Given the description of an element on the screen output the (x, y) to click on. 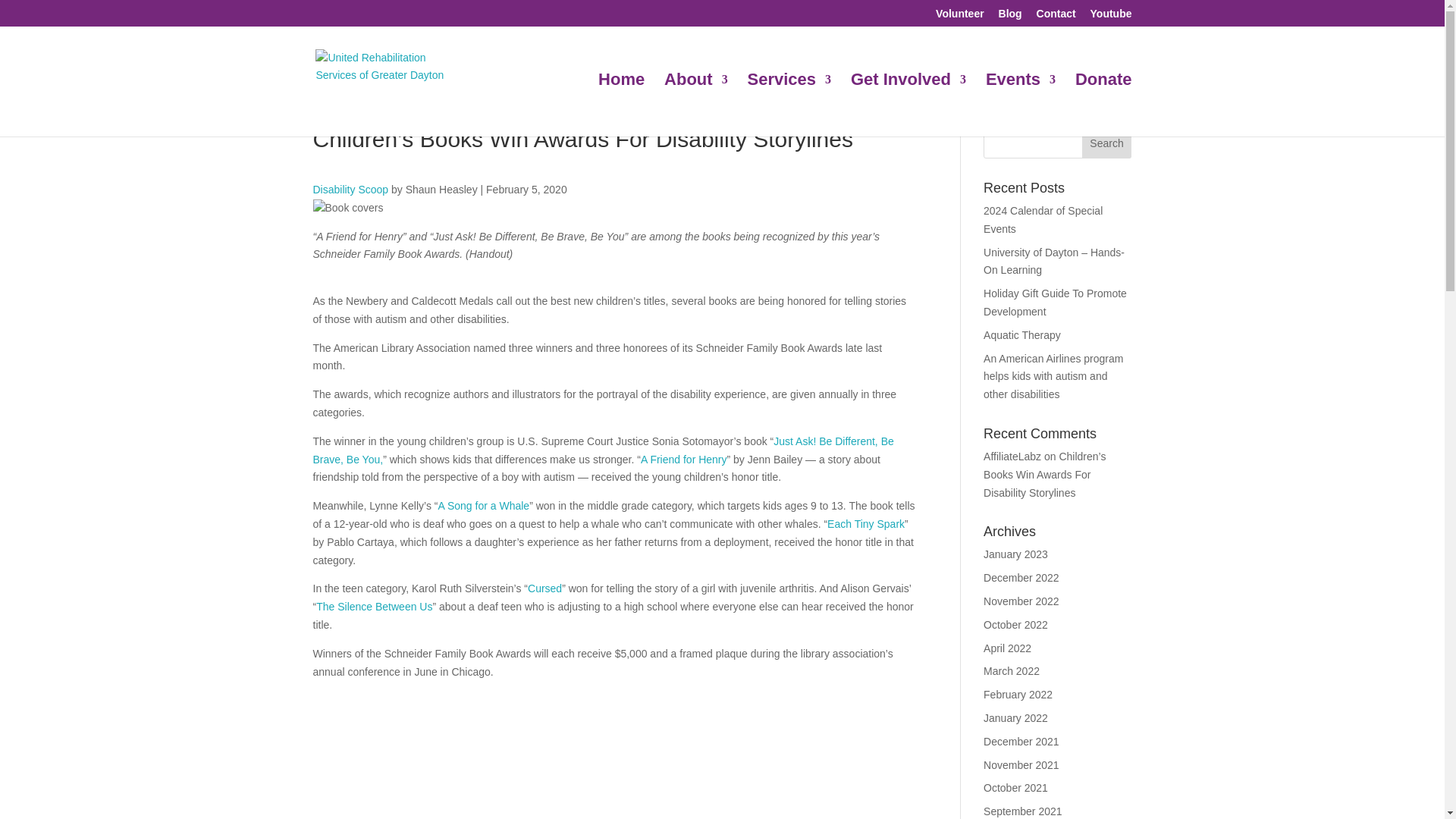
About (695, 105)
Search (1106, 142)
Volunteer (960, 16)
Disability Scoop (350, 189)
Events (1020, 105)
Blog (1010, 16)
Contact (1055, 16)
Services (789, 105)
Just Ask! Be Different, Be Brave, Be You, (603, 450)
Youtube (1111, 16)
